Given the description of an element on the screen output the (x, y) to click on. 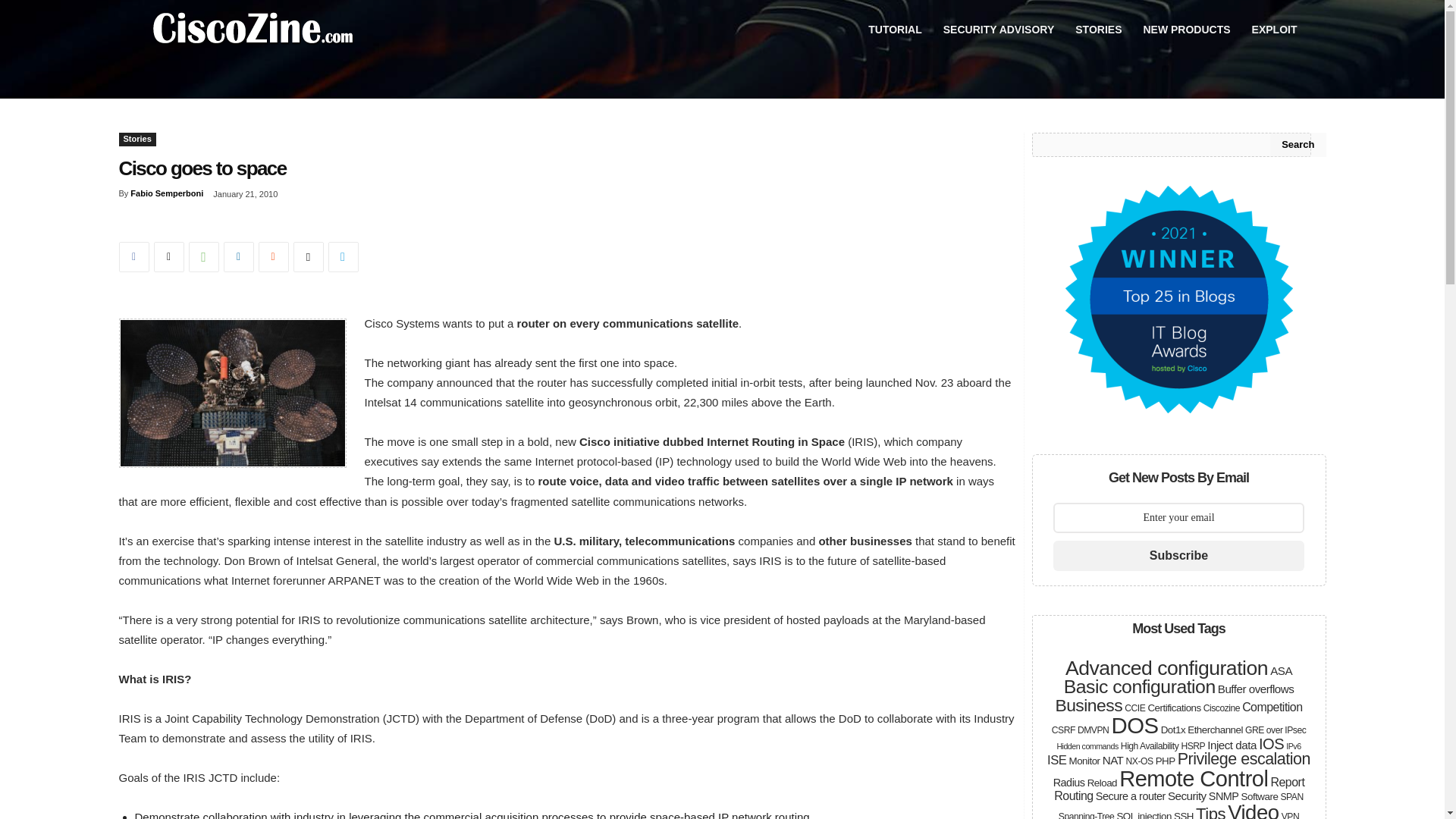
Email (307, 256)
NEW PRODUCTS (1186, 28)
Cisco-space (231, 392)
Search (1296, 144)
SECURITY ADVISORY (999, 28)
Fabio Semperboni (167, 192)
ReddIt (272, 256)
EXPLOIT (1274, 28)
Twitter (167, 256)
Linkedin (237, 256)
Facebook (132, 256)
TUTORIAL (895, 28)
